Given the description of an element on the screen output the (x, y) to click on. 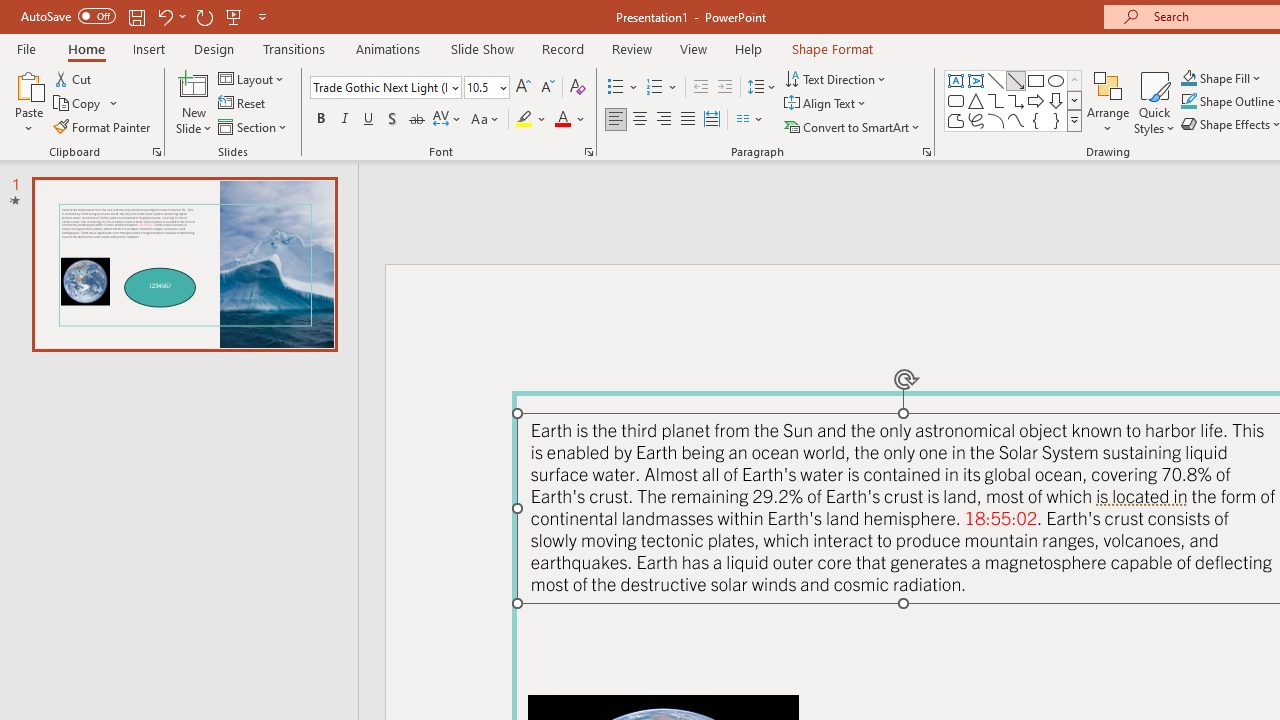
Shape Outline Teal, Accent 1 (1188, 101)
